Given the description of an element on the screen output the (x, y) to click on. 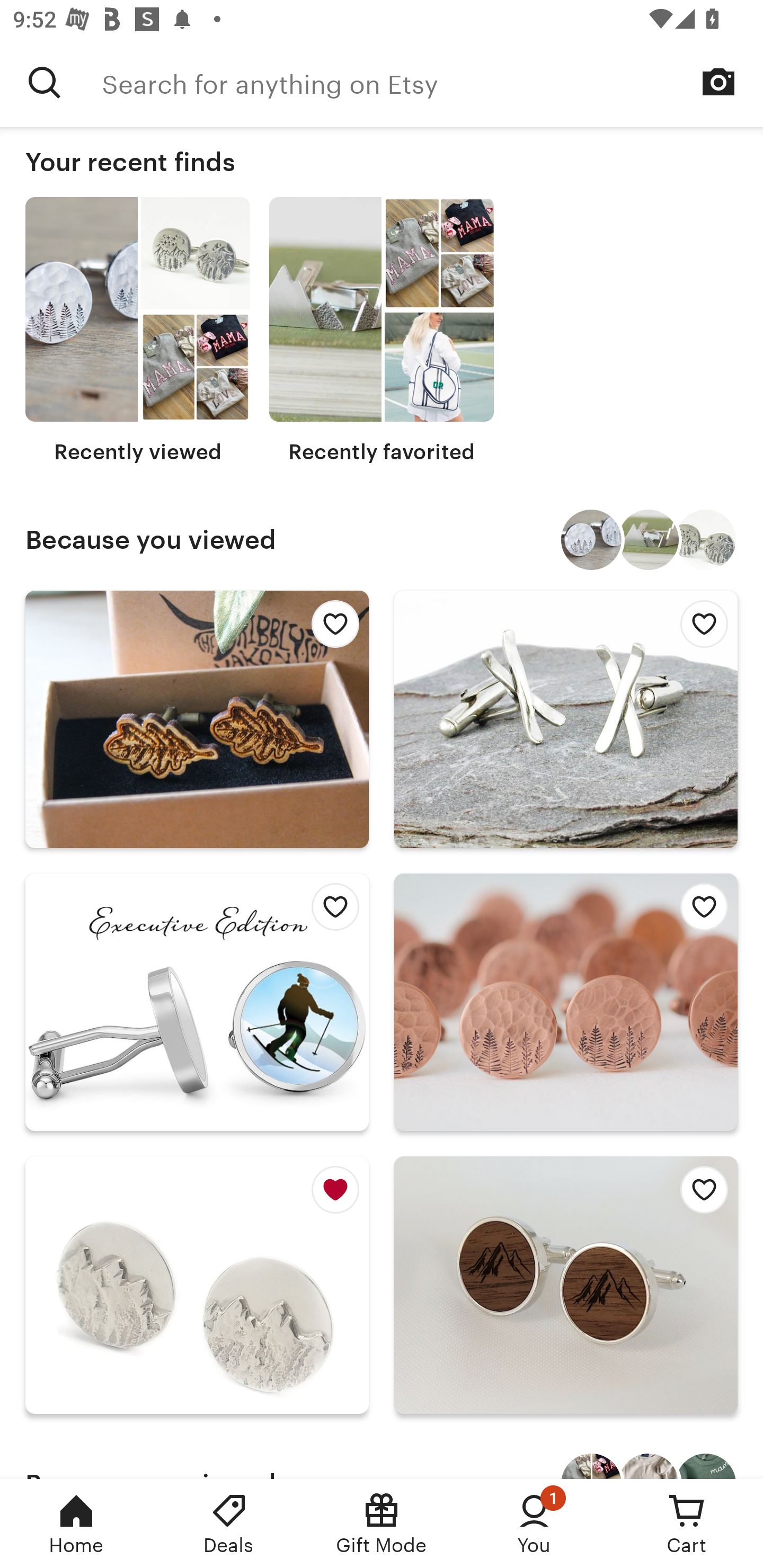
Search for anything on Etsy (44, 82)
Search by image (718, 81)
Search for anything on Etsy (432, 82)
Recently viewed (137, 330)
Recently favorited (381, 330)
Deals (228, 1523)
Gift Mode (381, 1523)
You, 1 new notification You (533, 1523)
Cart (686, 1523)
